Given the description of an element on the screen output the (x, y) to click on. 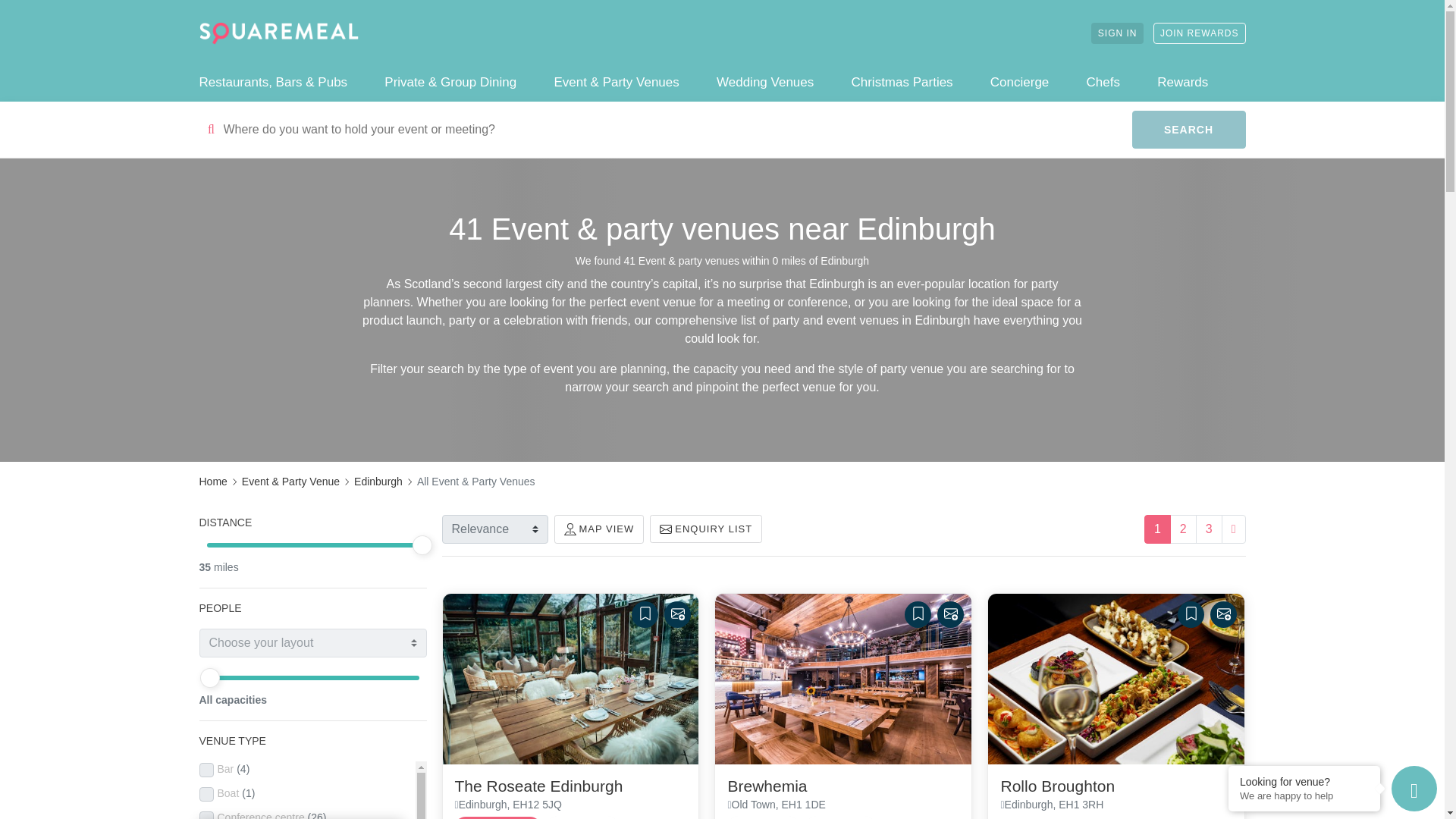
We are happy to help (1304, 795)
Search (1187, 129)
Looking for venue? (1304, 781)
Offers available (497, 817)
JOIN REWARDS (1199, 33)
SquareMeal (278, 33)
SIGN IN (1117, 33)
